Given the description of an element on the screen output the (x, y) to click on. 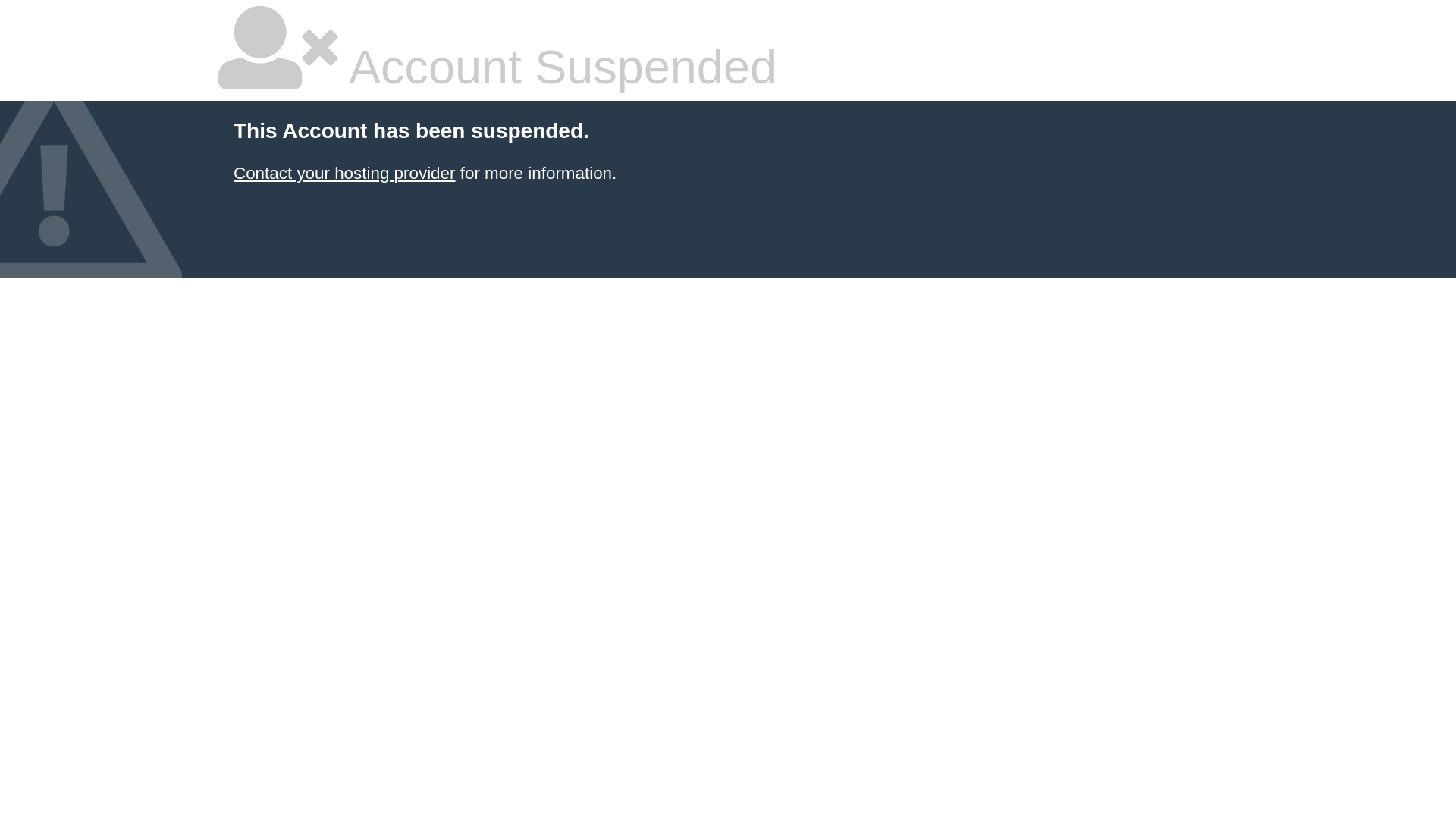
Contact your hosting provider Element type: text (344, 172)
